Given the description of an element on the screen output the (x, y) to click on. 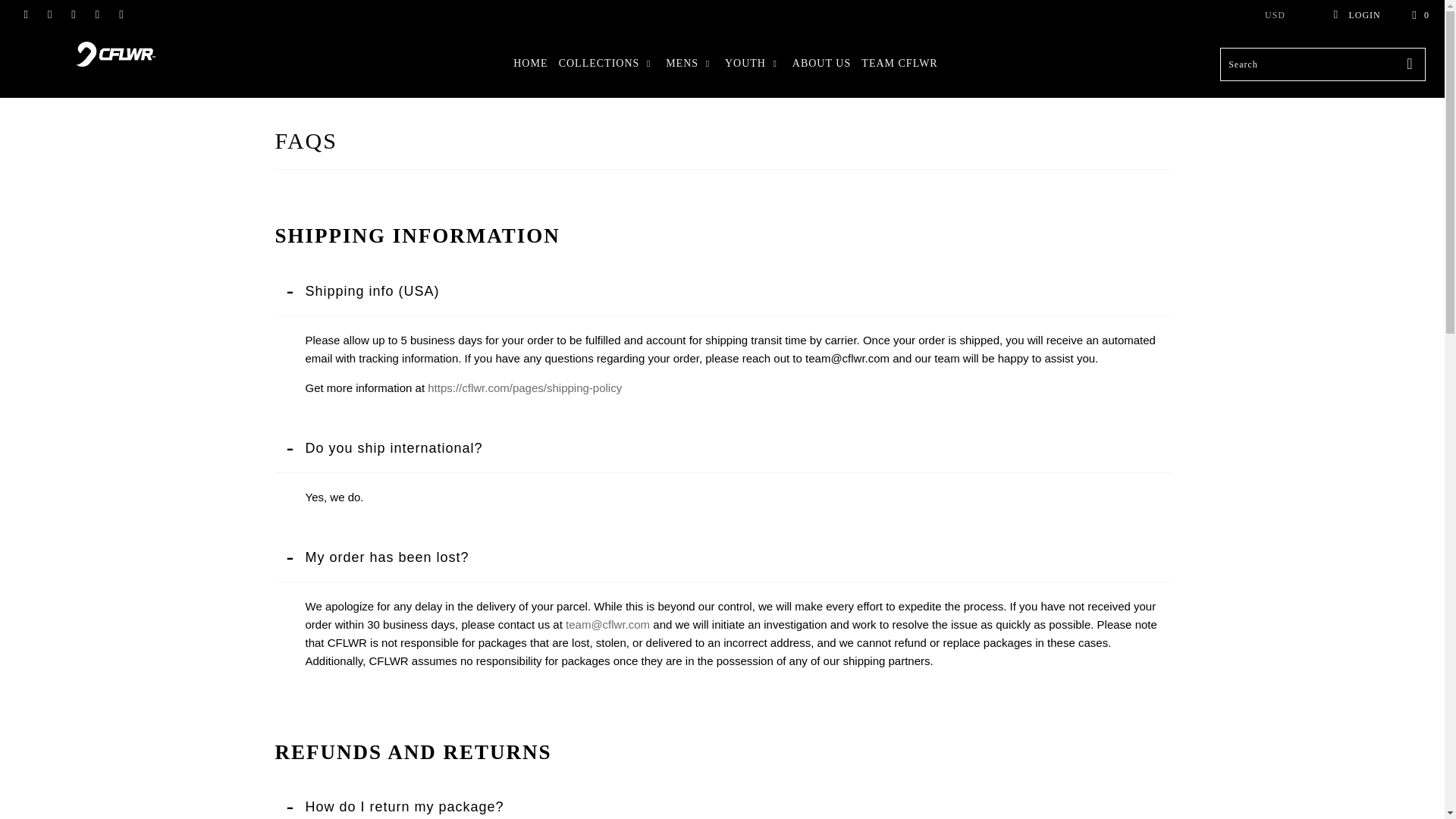
HOME (530, 63)
My Account  (1355, 15)
Email CFLWR Combat Gear (121, 14)
CFLWR Combat Gear on YouTube (73, 14)
CFLWR Combat Gear (115, 53)
CFLWR Combat Gear on Twitter (25, 14)
COLLECTIONS (607, 63)
CFLWR Combat Gear on Instagram (96, 14)
CFLWR Combat Gear on Facebook (48, 14)
LOGIN (1355, 15)
